Given the description of an element on the screen output the (x, y) to click on. 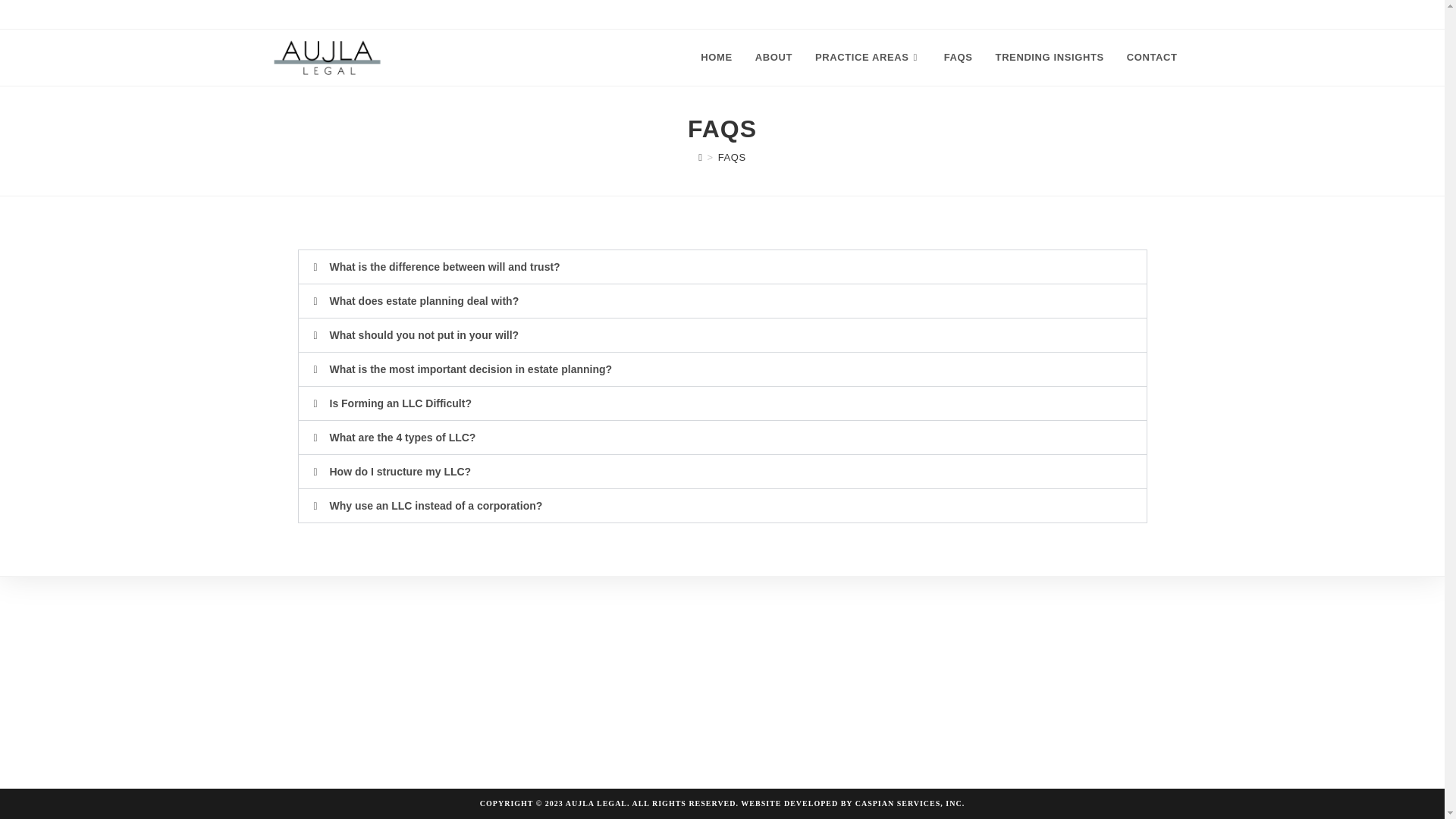
TRENDING INSIGHTS (1049, 57)
ABOUT (773, 57)
HOME (715, 57)
What does estate planning deal with? (423, 300)
FAQS (958, 57)
CONTACT (1152, 57)
Why use an LLC instead of a corporation? (435, 505)
How do I structure my LLC? (399, 471)
Is Forming an LLC Difficult? (399, 403)
What is the difference between will and trust? (444, 266)
